Given the description of an element on the screen output the (x, y) to click on. 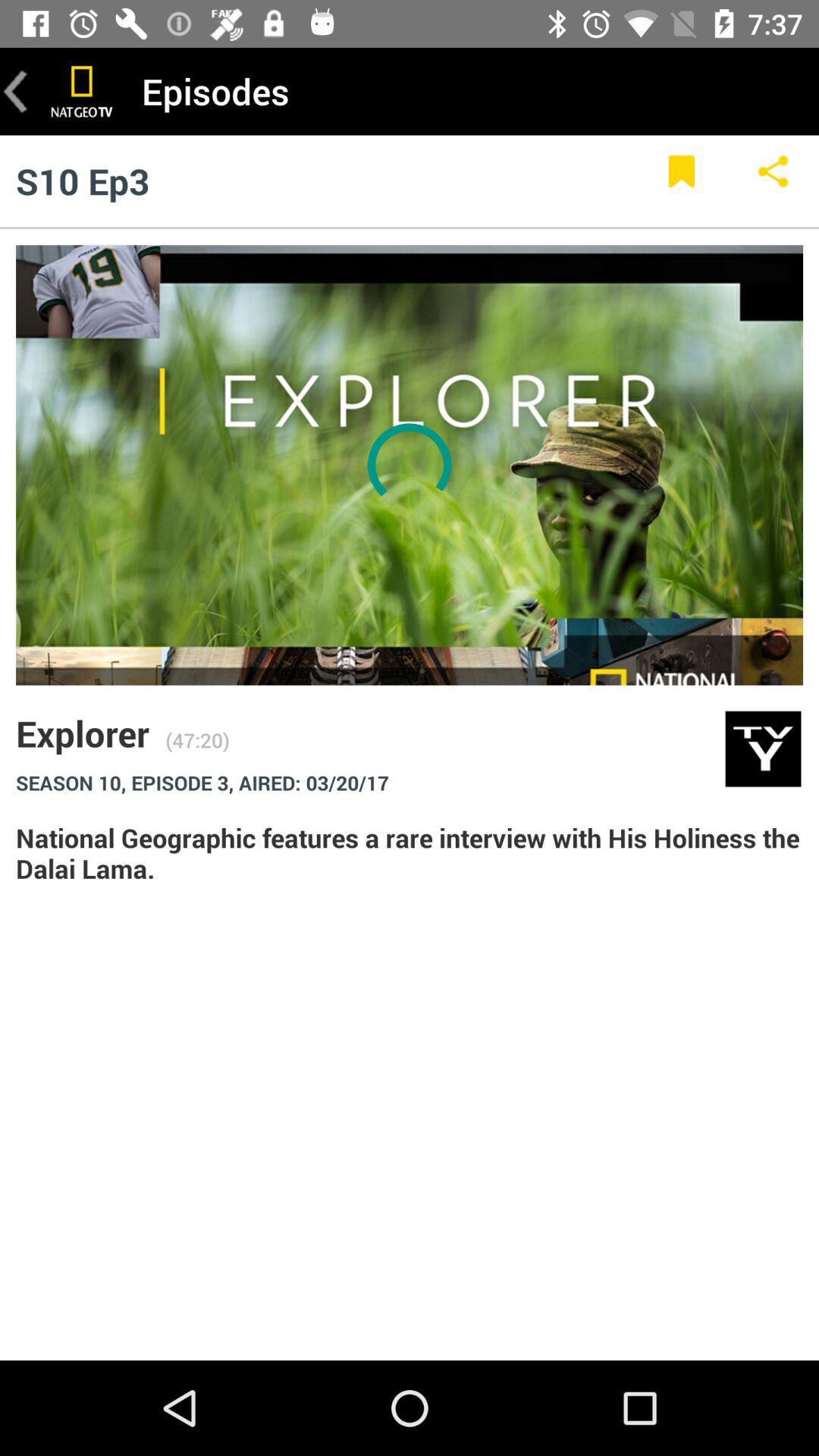
click item below episodes icon (773, 180)
